Given the description of an element on the screen output the (x, y) to click on. 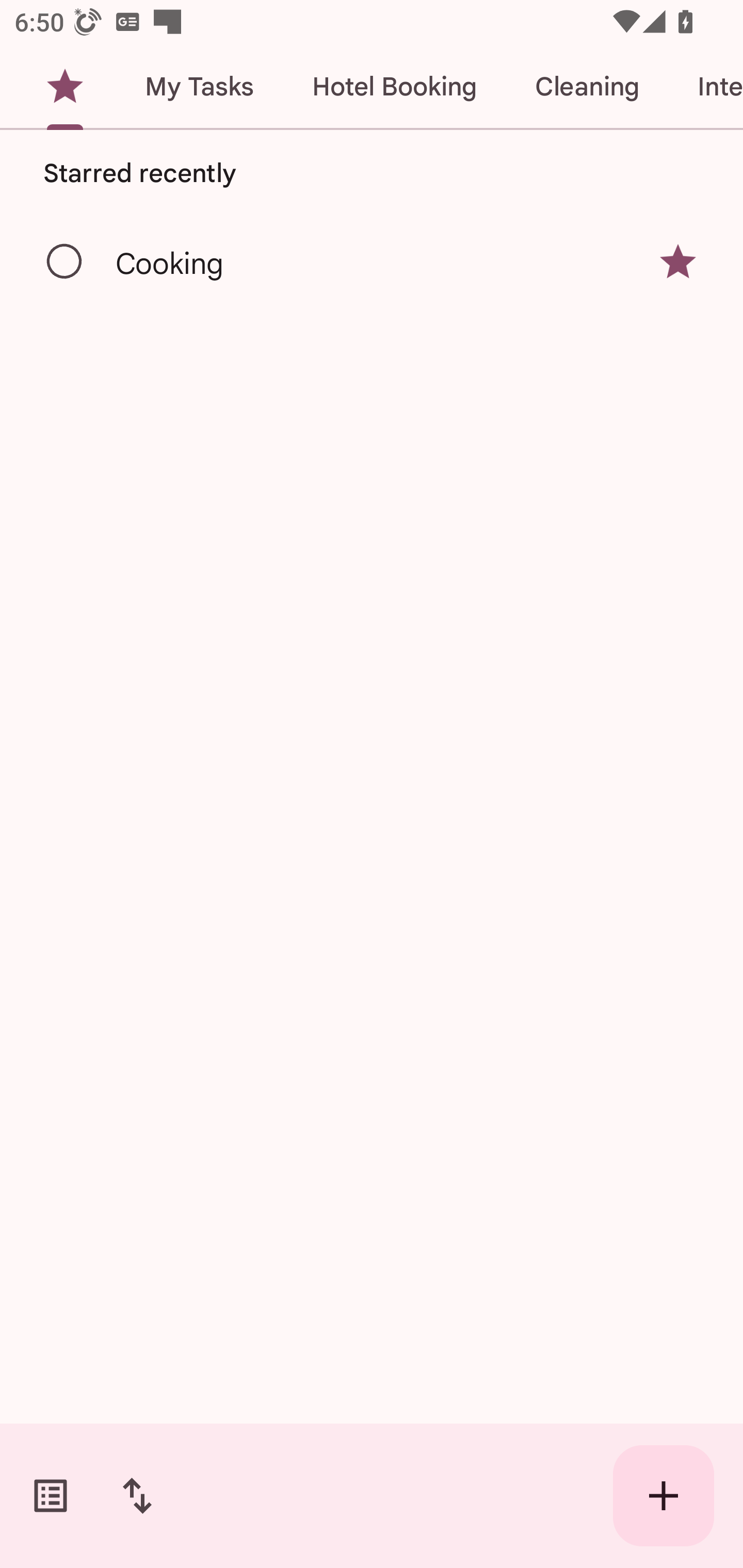
My Tasks (199, 86)
Hotel Booking (394, 86)
Cleaning (586, 86)
Remove star (677, 261)
Mark as complete (64, 261)
Switch task lists (50, 1495)
Create new task (663, 1495)
Change sort order (136, 1495)
